Given the description of an element on the screen output the (x, y) to click on. 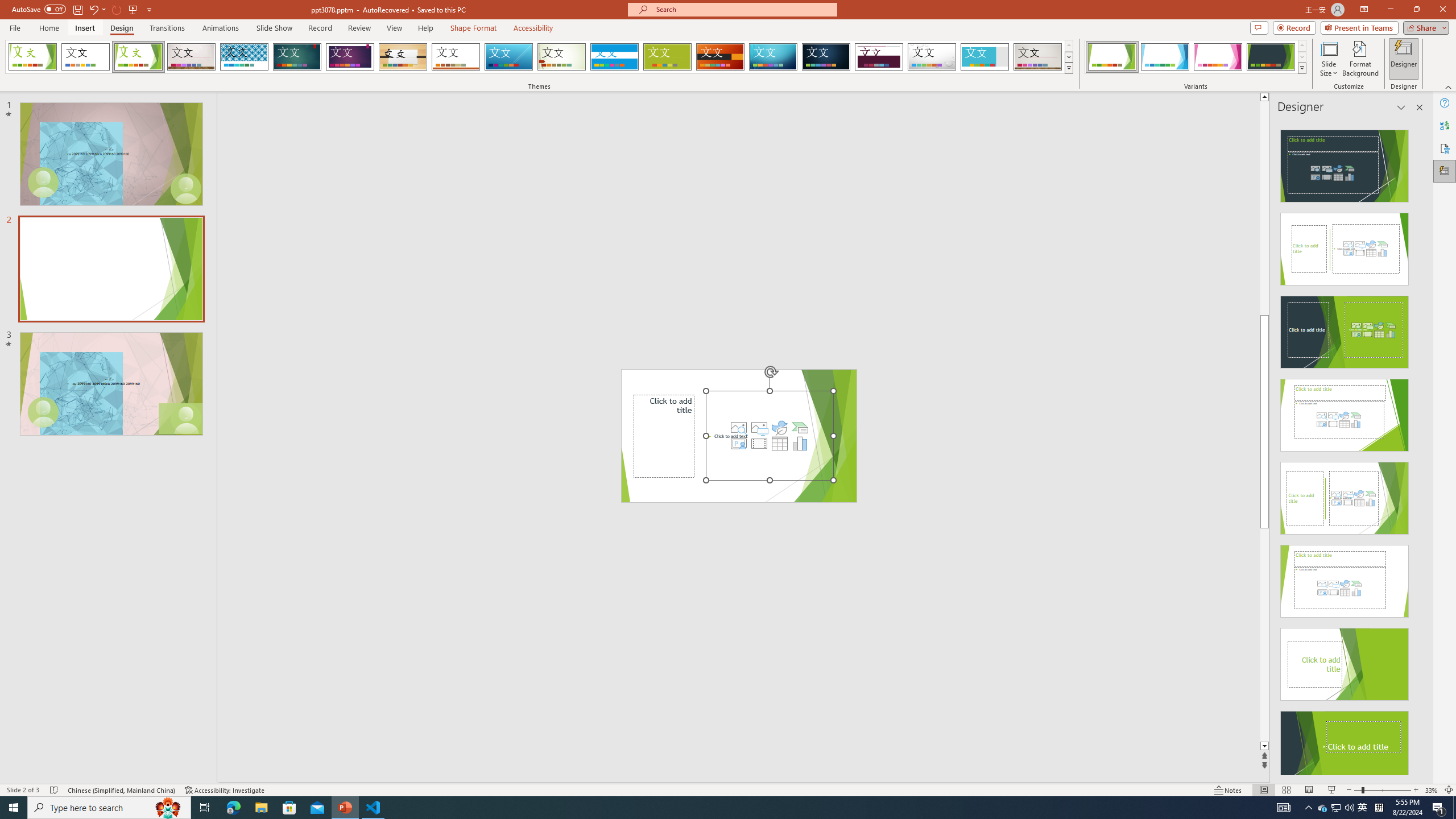
Insert Chart (799, 443)
Format Background (1360, 58)
Frame (984, 56)
Facet (138, 56)
Recommended Design: Design Idea (1344, 162)
